Given the description of an element on the screen output the (x, y) to click on. 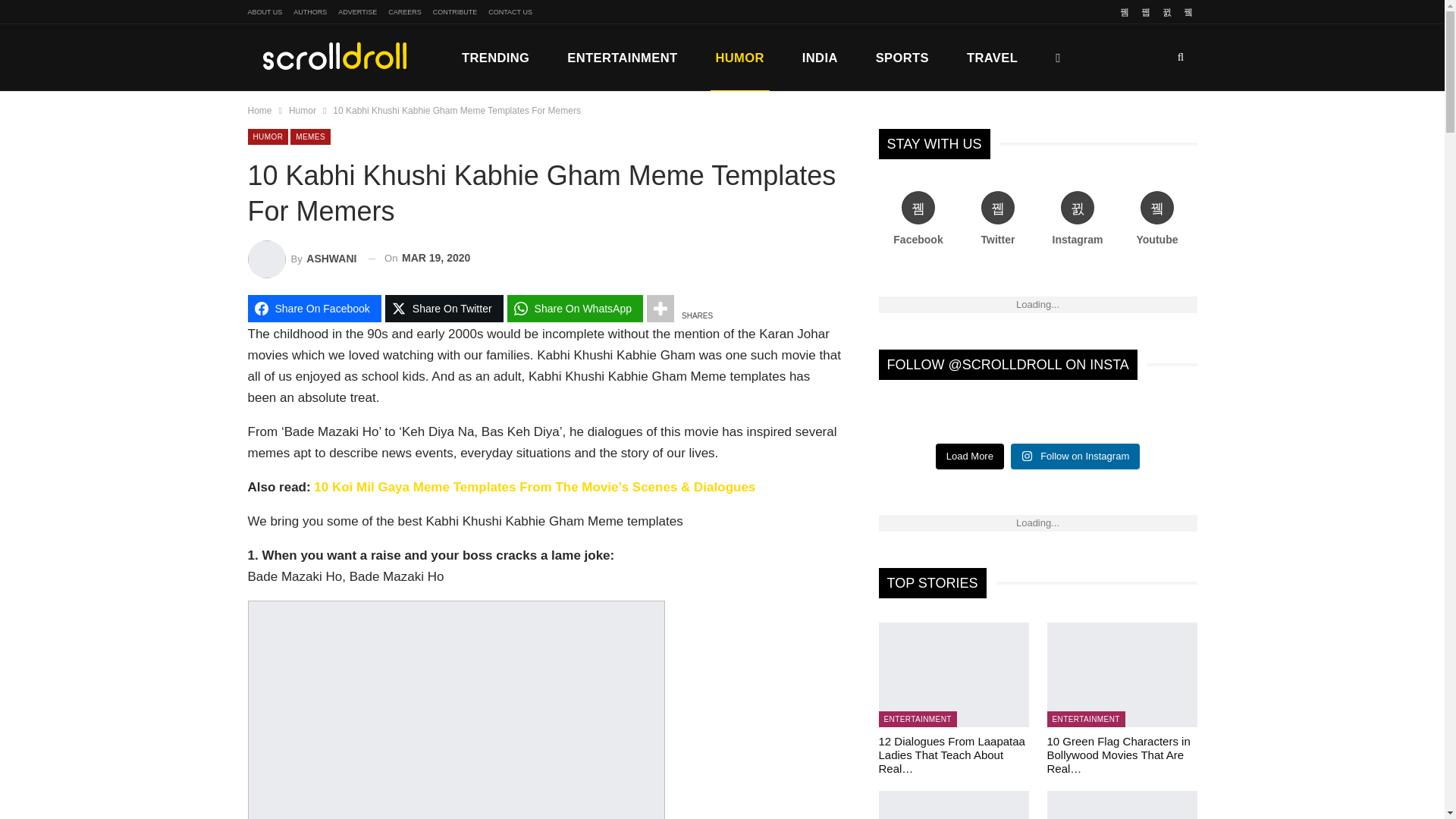
CONTRIBUTE (454, 11)
ABOUT US (264, 11)
CONTACT US (509, 11)
CAREERS (405, 11)
AUTHORS (310, 11)
ENTERTAINMENT (622, 57)
TRENDING (495, 57)
ADVERTISE (357, 11)
